Given the description of an element on the screen output the (x, y) to click on. 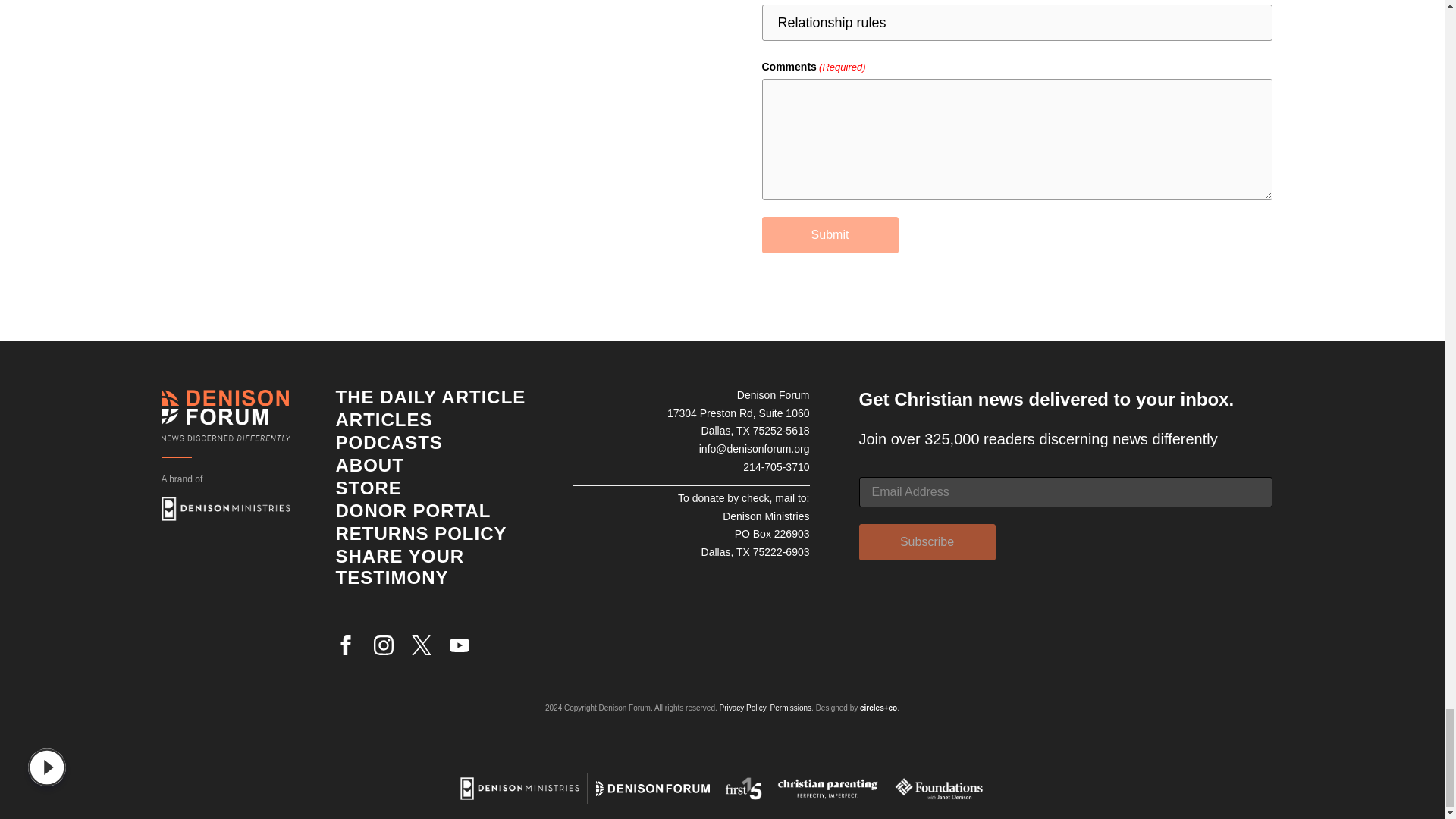
Opens in a new window (224, 508)
Submit (829, 235)
Subscribe (926, 542)
The Daily Article (429, 396)
Relationship rules (1016, 22)
